Given the description of an element on the screen output the (x, y) to click on. 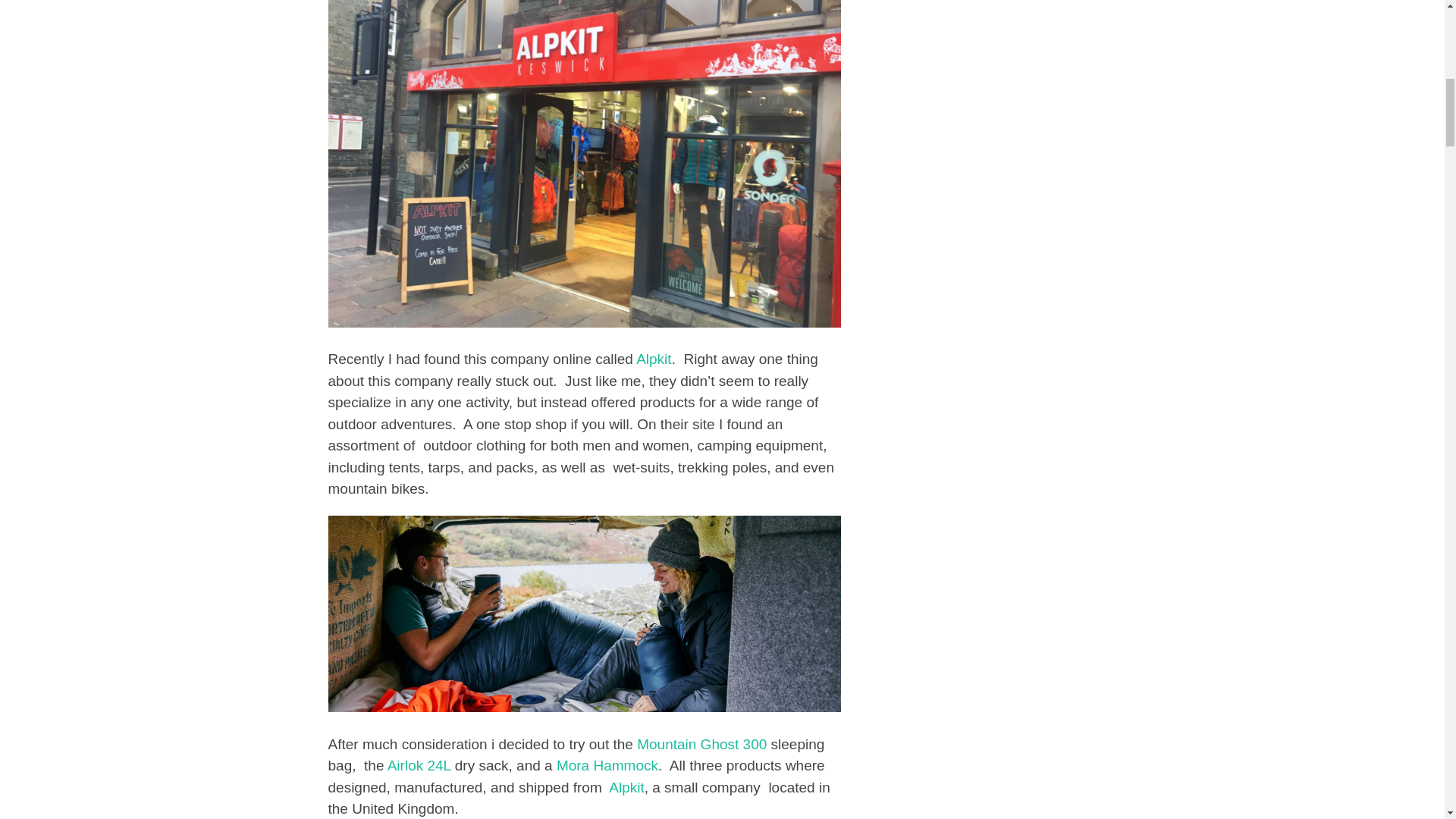
Alpkit (625, 787)
Alpkit (653, 358)
Airlok 24L (419, 765)
Mora Hammock (607, 765)
Mountain Ghost 300 (702, 744)
